Given the description of an element on the screen output the (x, y) to click on. 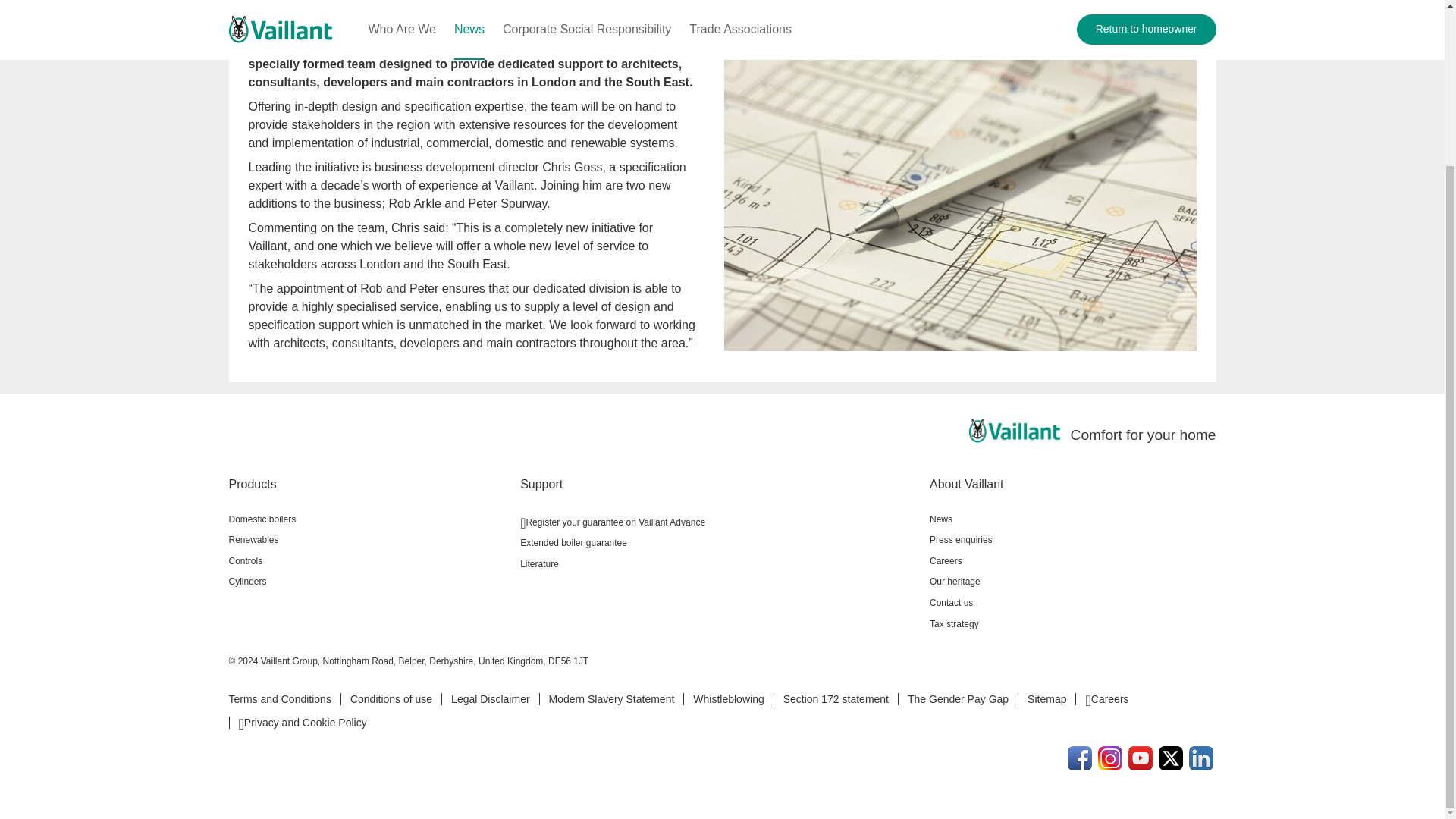
Linkedin (1200, 758)
Products (368, 484)
Literature (718, 563)
Careers (1072, 560)
Press enquiries (1072, 539)
Controls (368, 560)
Tax strategy (1072, 623)
Support (718, 484)
Facebook (1079, 758)
Domestic boilers (368, 518)
